Given the description of an element on the screen output the (x, y) to click on. 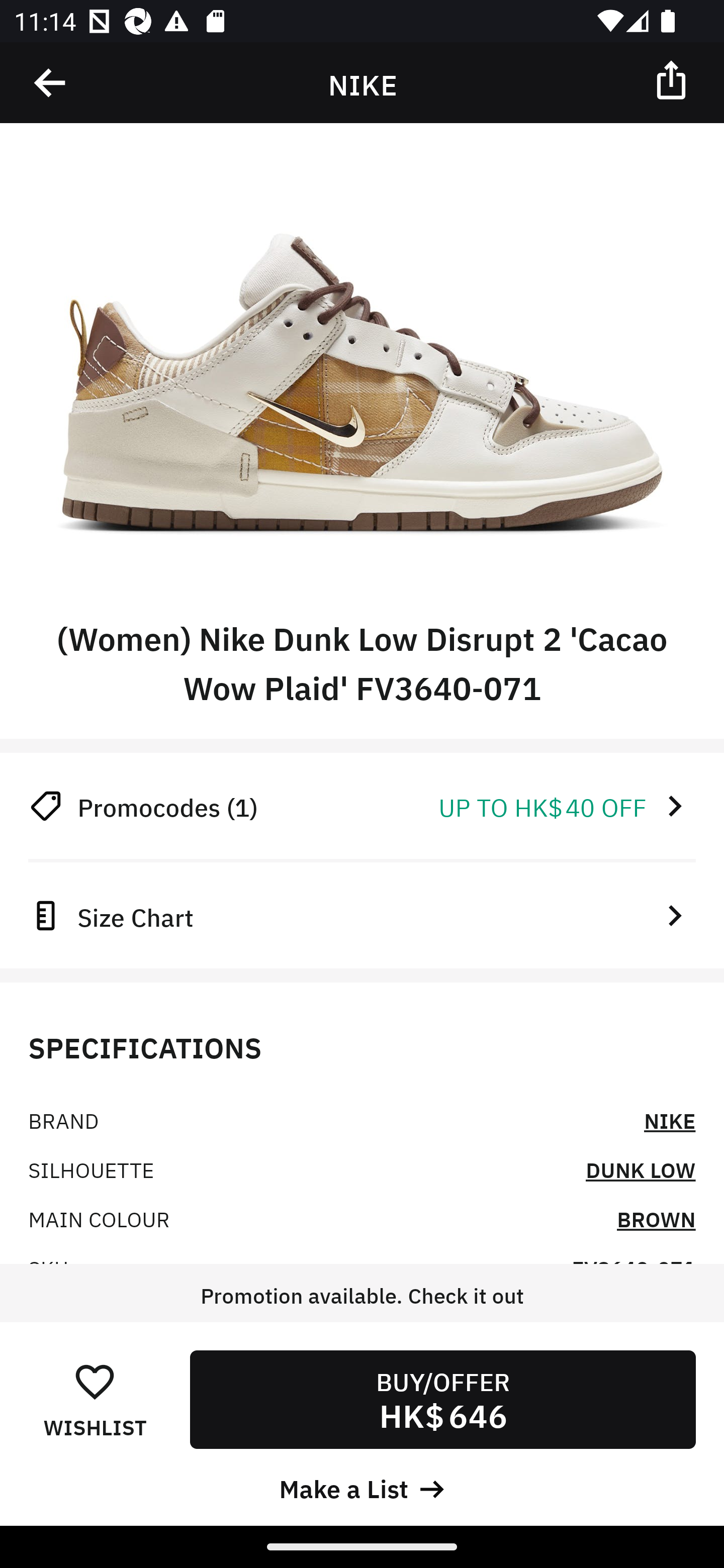
 (50, 83)
 (672, 79)
Promocodes (1) UP TO HK$ 40 OFF  (361, 805)
Size Chart  (361, 914)
NIKE (669, 1119)
DUNK LOW (640, 1168)
BROWN (655, 1218)
BUY/OFFER HK$ 646 (442, 1399)
󰋕 (94, 1380)
Make a List (361, 1486)
